Given the description of an element on the screen output the (x, y) to click on. 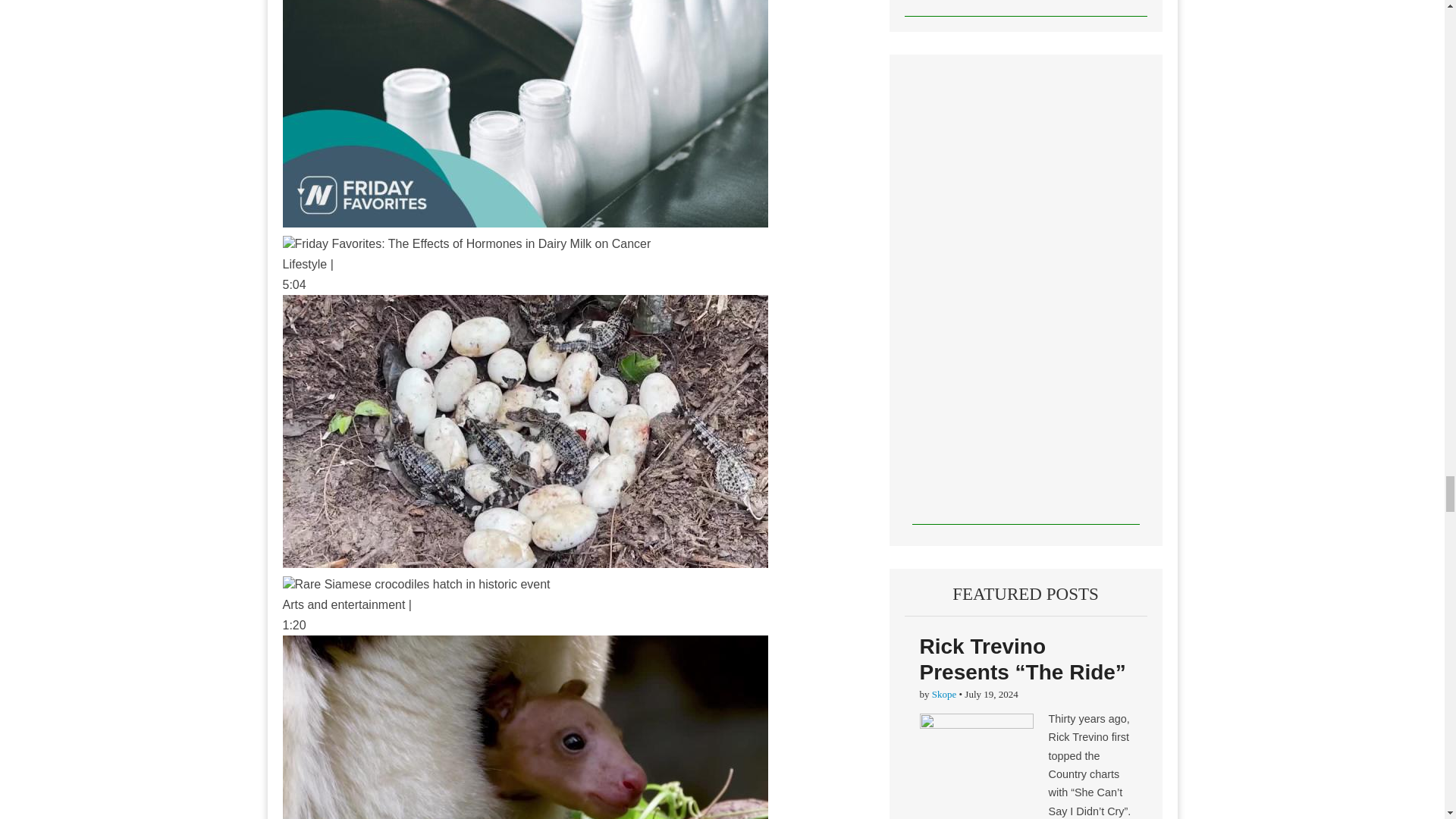
Advertisement (1025, 8)
Posts by Skope (943, 694)
